Given the description of an element on the screen output the (x, y) to click on. 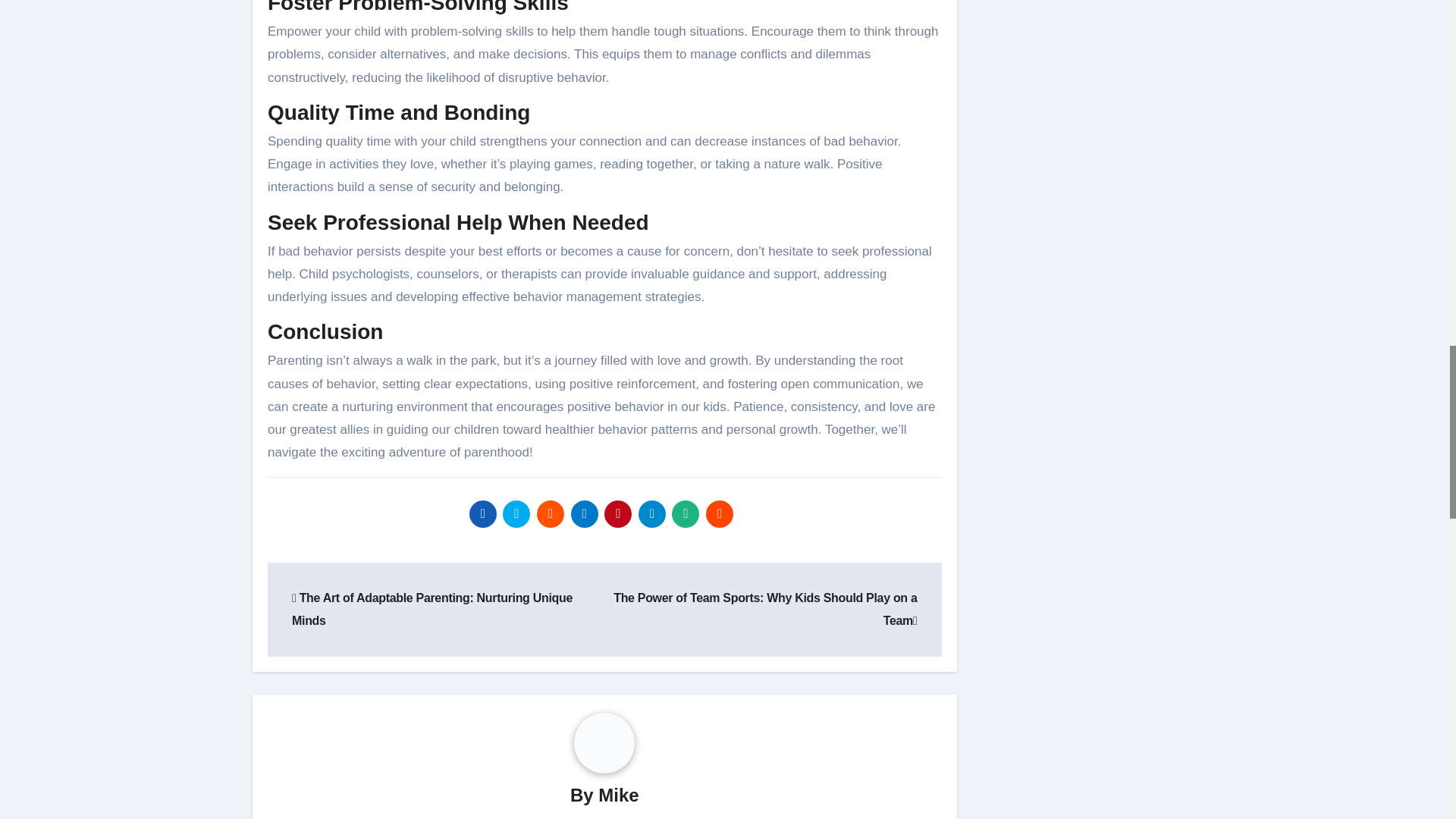
Mike (618, 794)
The Power of Team Sports: Why Kids Should Play on a Team (764, 609)
The Art of Adaptable Parenting: Nurturing Unique Minds (432, 609)
